Given the description of an element on the screen output the (x, y) to click on. 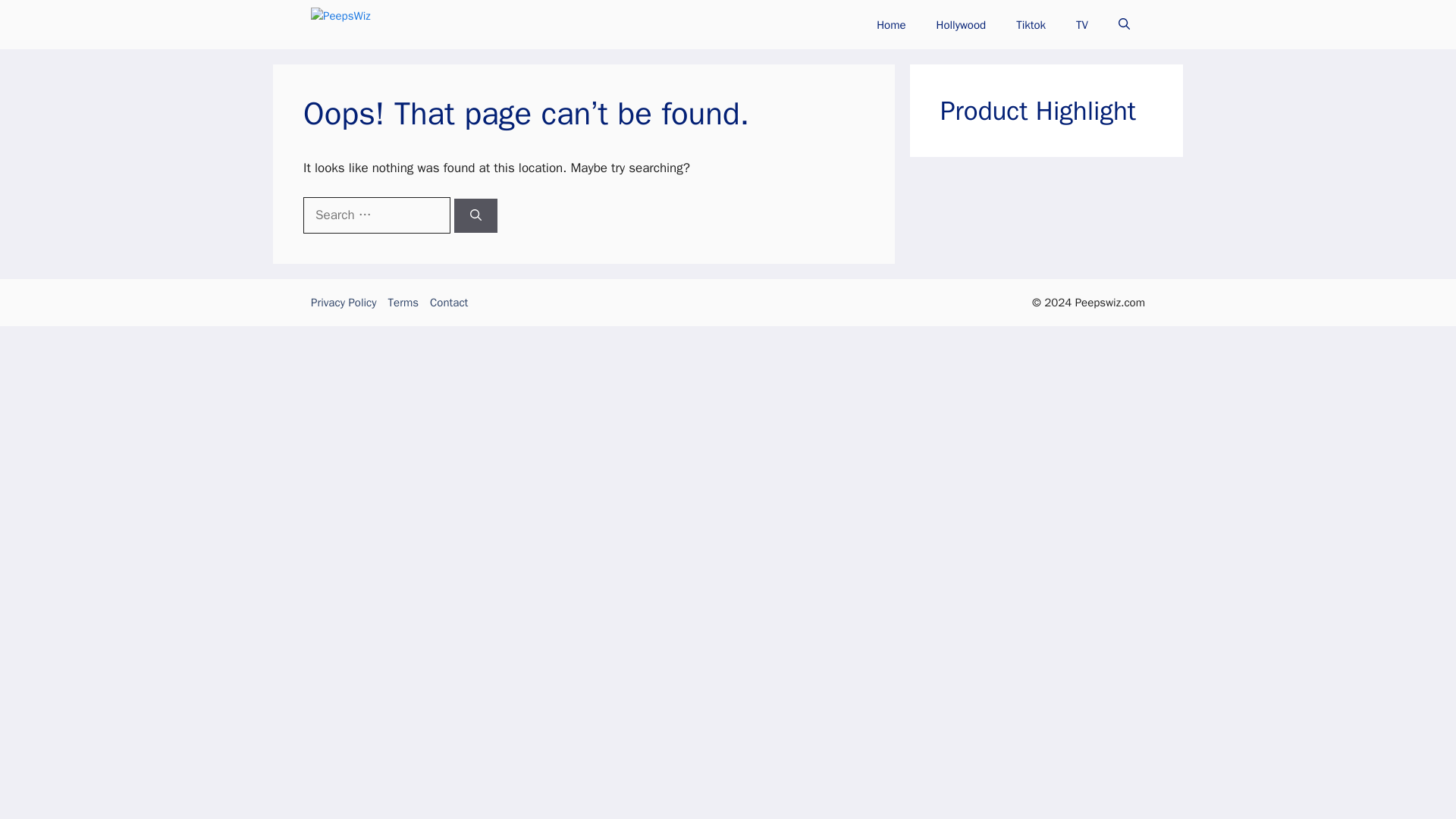
Hollywood (961, 23)
Home (890, 23)
Tiktok (1031, 23)
Search for: (375, 215)
TV (1082, 23)
PeepsWiz (396, 24)
